Given the description of an element on the screen output the (x, y) to click on. 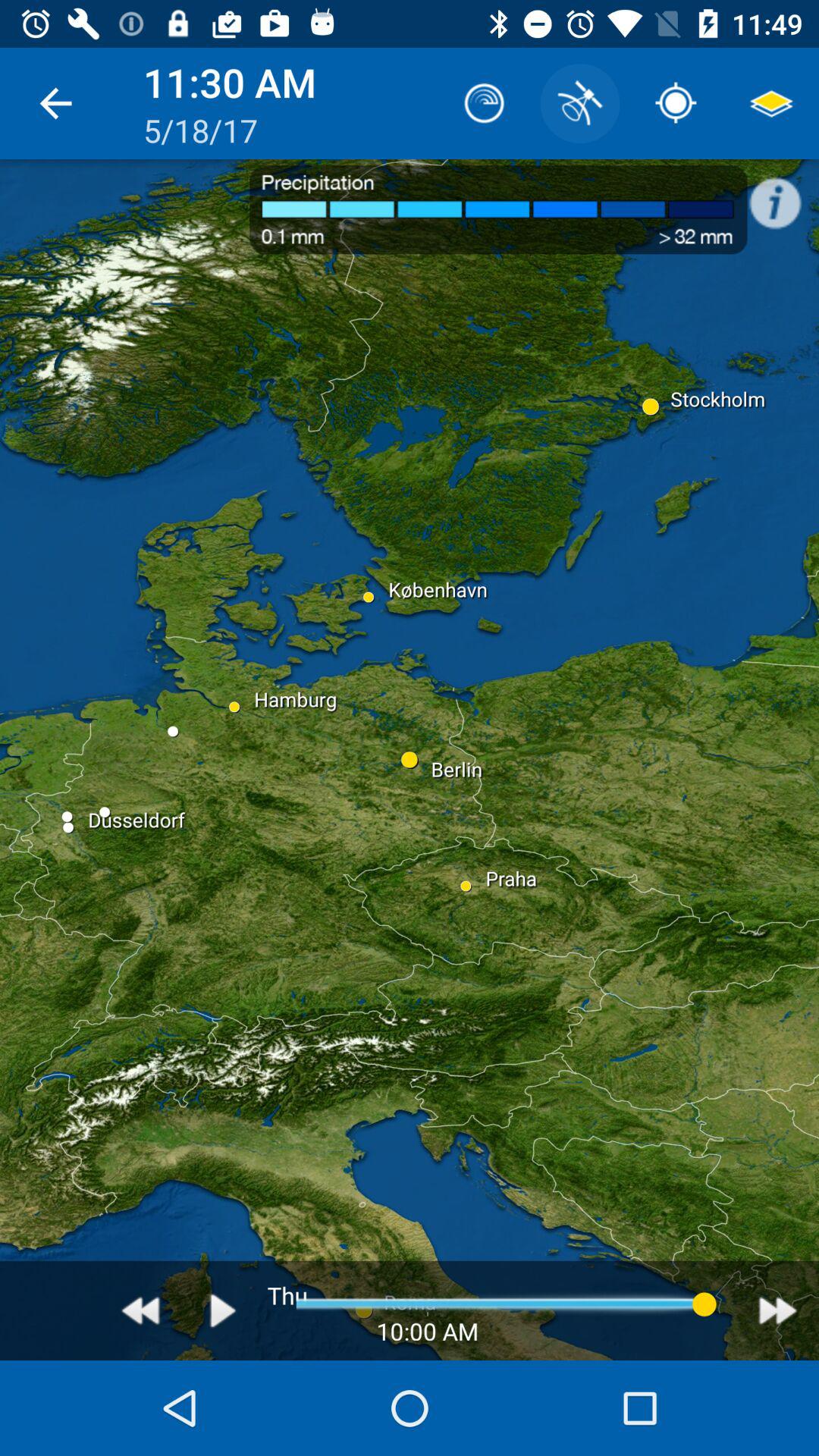
fast forward (777, 1310)
